Given the description of an element on the screen output the (x, y) to click on. 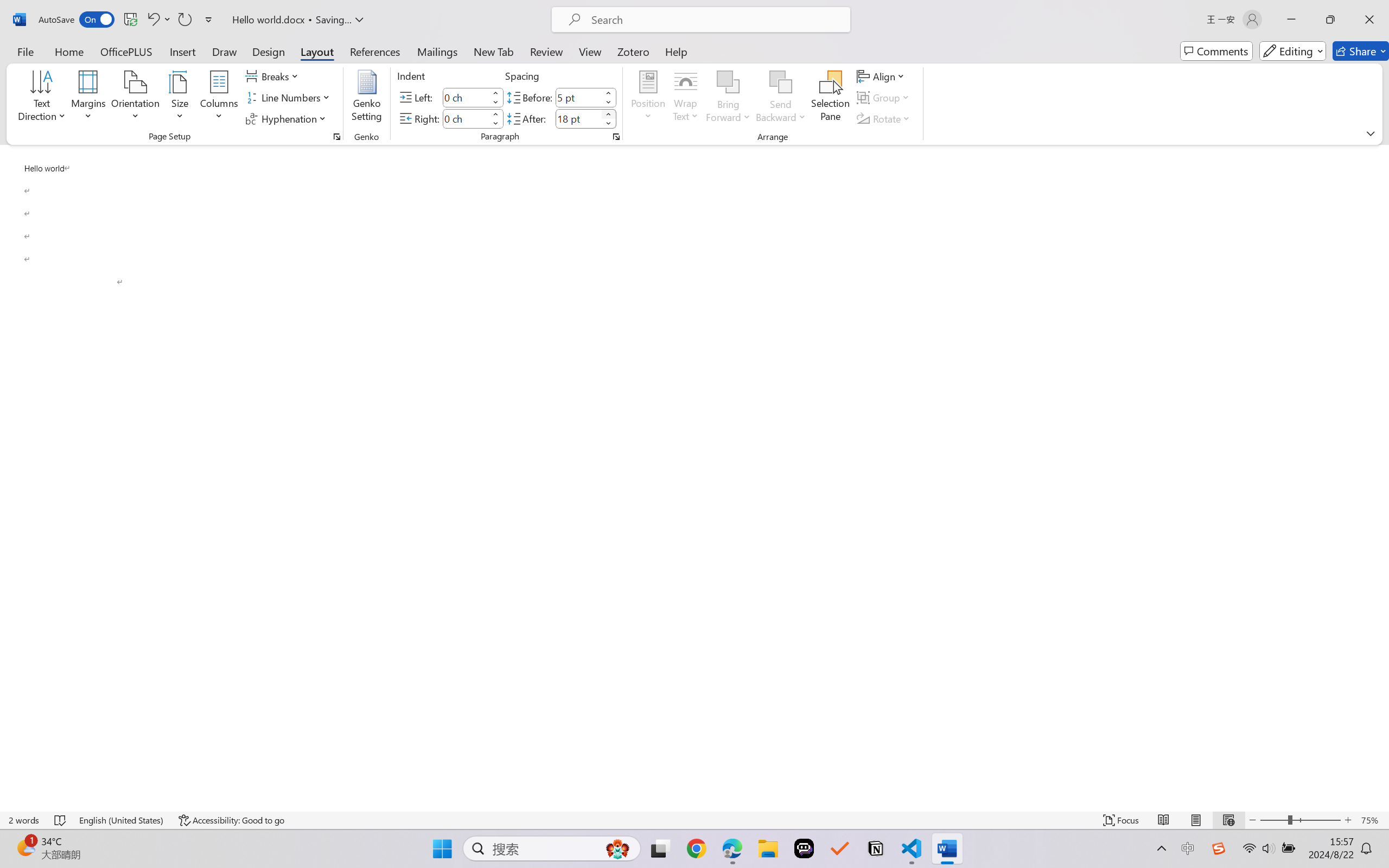
Columns (219, 97)
Home (69, 51)
Close (1369, 19)
Less (608, 123)
Undo Paragraph Formatting (158, 19)
Web Layout (1228, 819)
Repeat Paragraph Formatting (184, 19)
Indent Right (465, 118)
Undo Paragraph Formatting (152, 19)
Word Count 2 words (23, 819)
References (375, 51)
Line Numbers (289, 97)
Insert (182, 51)
Class: MsoCommandBar (694, 819)
